Given the description of an element on the screen output the (x, y) to click on. 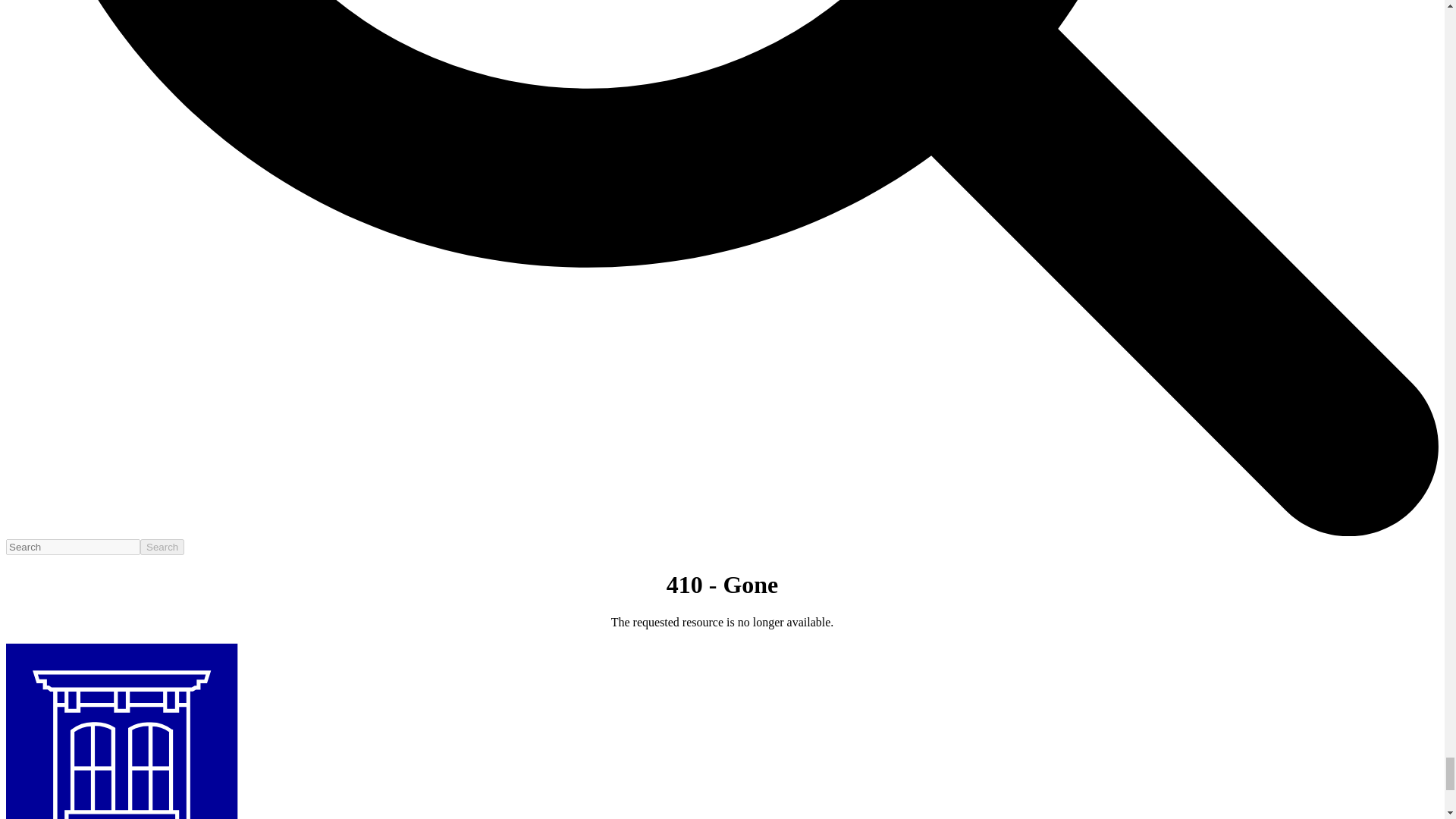
Search (161, 546)
